Given the description of an element on the screen output the (x, y) to click on. 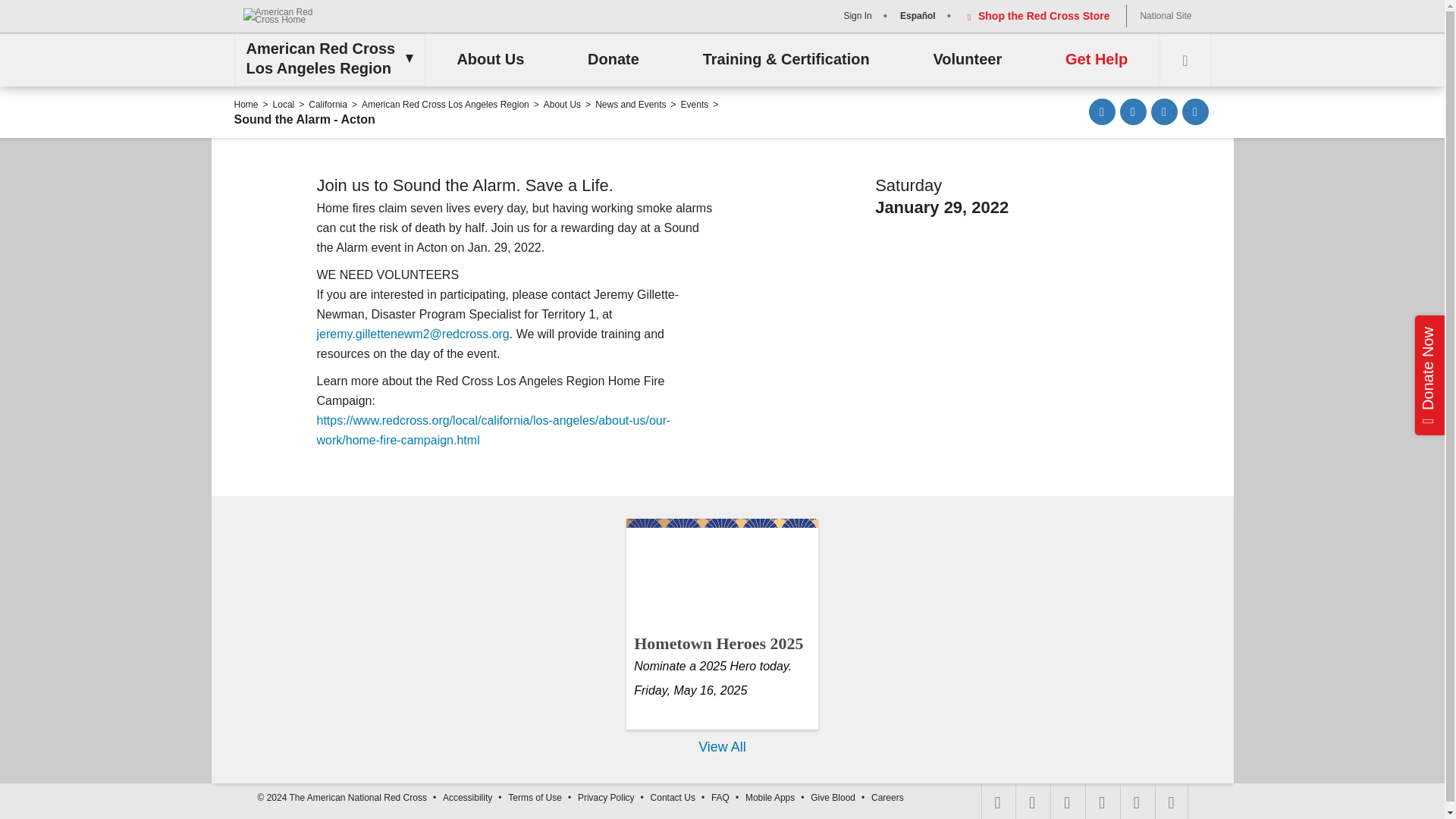
Other share options (1194, 111)
Follow link (494, 430)
Share via Email (1102, 111)
American Red Cross Los Angeles Region (325, 57)
Share on Facebook (1132, 111)
About Us (490, 59)
Donate (613, 59)
National Site (1164, 15)
Sign In (855, 15)
Tweet (1164, 111)
